Given the description of an element on the screen output the (x, y) to click on. 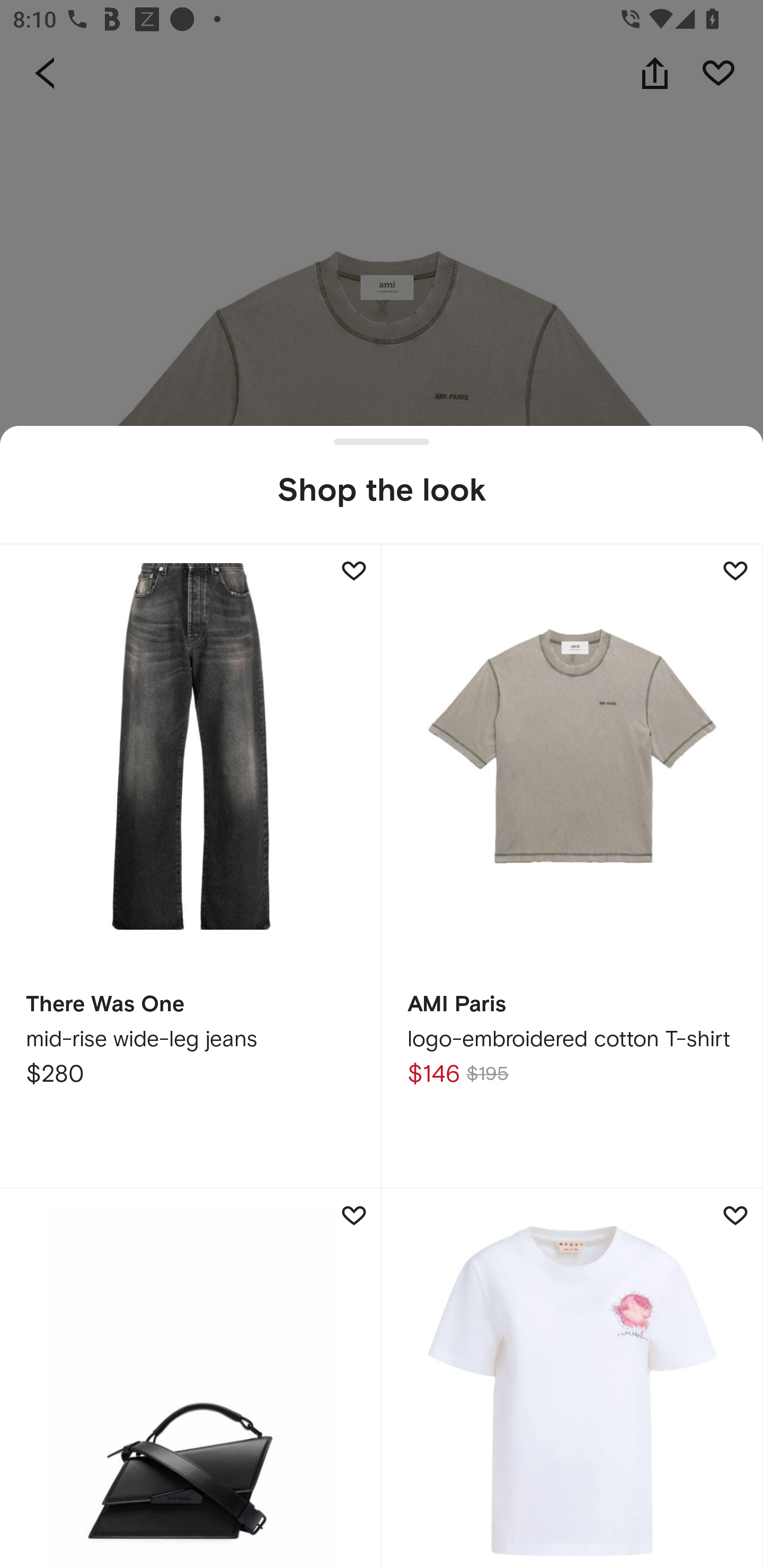
There Was One mid-rise wide-leg jeans $280 (190, 865)
